Given the description of an element on the screen output the (x, y) to click on. 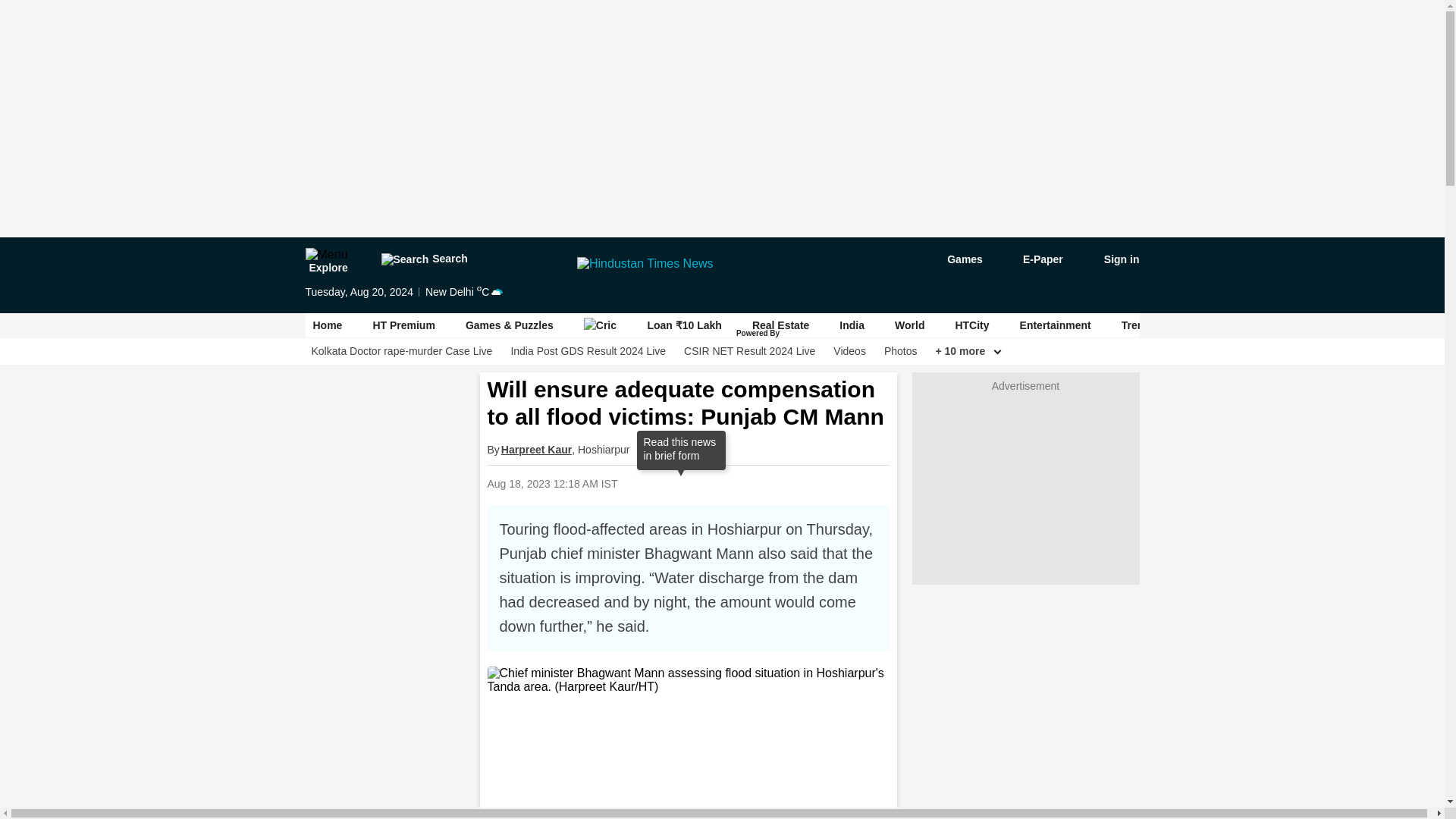
Home (327, 325)
Share on Facebook (710, 483)
Share on Twitter (749, 483)
Trending (1143, 325)
Real Estate (780, 324)
Lifestyle (1297, 325)
HT Premium (402, 325)
game (954, 258)
Kolkata Doctor rape-murder Case Live (401, 350)
epaper (1034, 258)
